Given the description of an element on the screen output the (x, y) to click on. 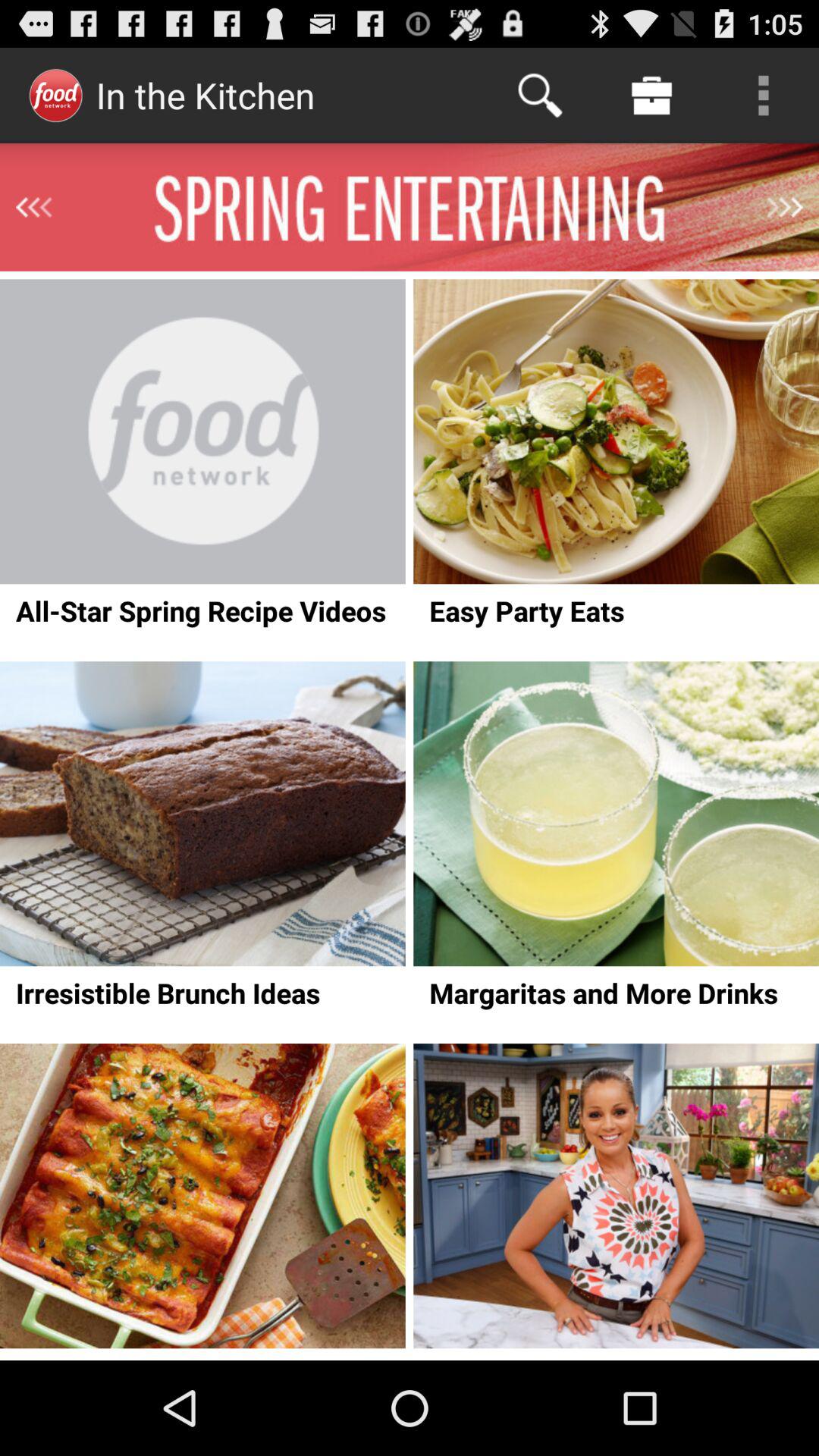
go previous (33, 207)
